Given the description of an element on the screen output the (x, y) to click on. 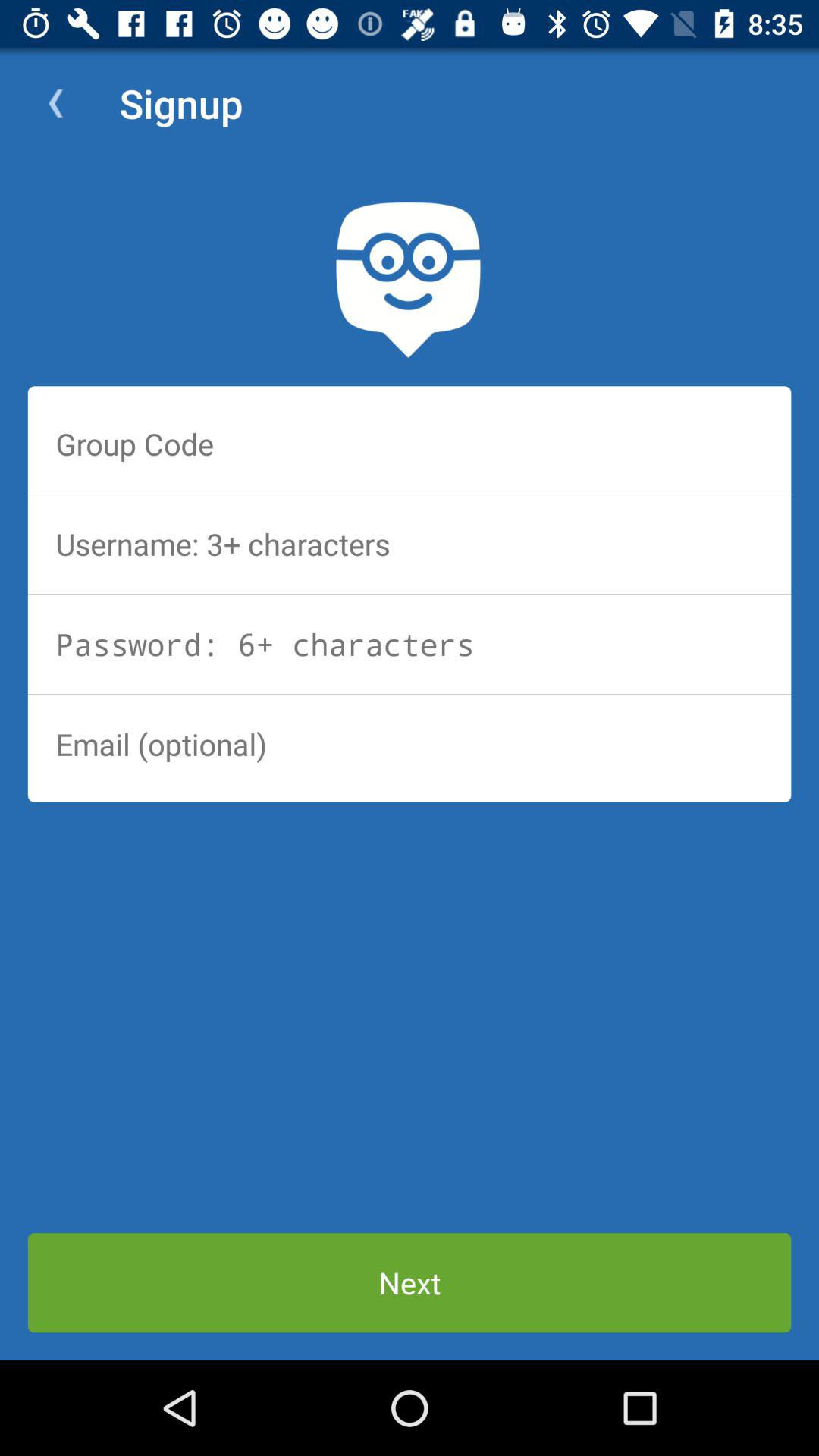
type group code (409, 443)
